Given the description of an element on the screen output the (x, y) to click on. 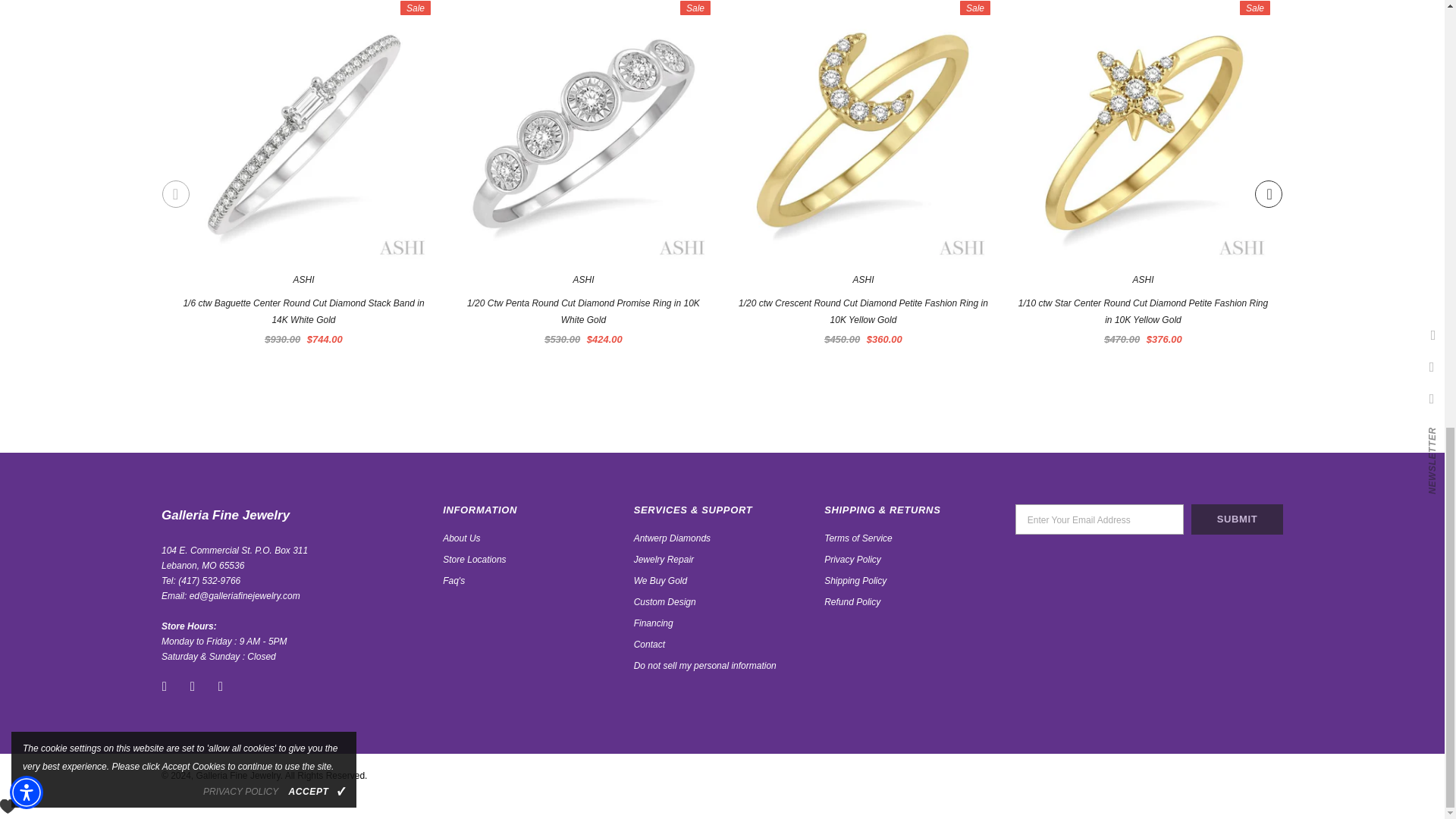
Submit (1236, 519)
